Given the description of an element on the screen output the (x, y) to click on. 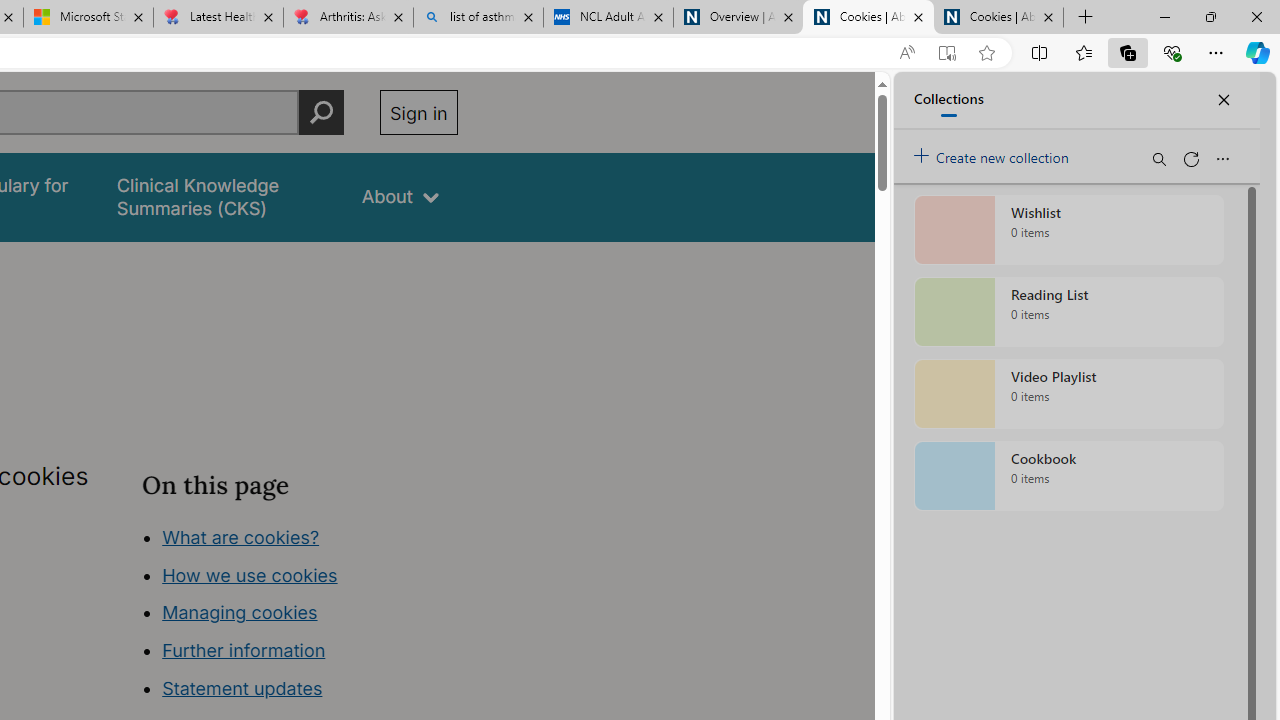
Sign in (418, 112)
NCL Adult Asthma Inhaler Choice Guideline (608, 17)
false (221, 196)
Further information (244, 650)
Perform search (321, 112)
Enter Immersive Reader (F9) (946, 53)
Managing cookies (239, 612)
Statement updates (242, 688)
